Given the description of an element on the screen output the (x, y) to click on. 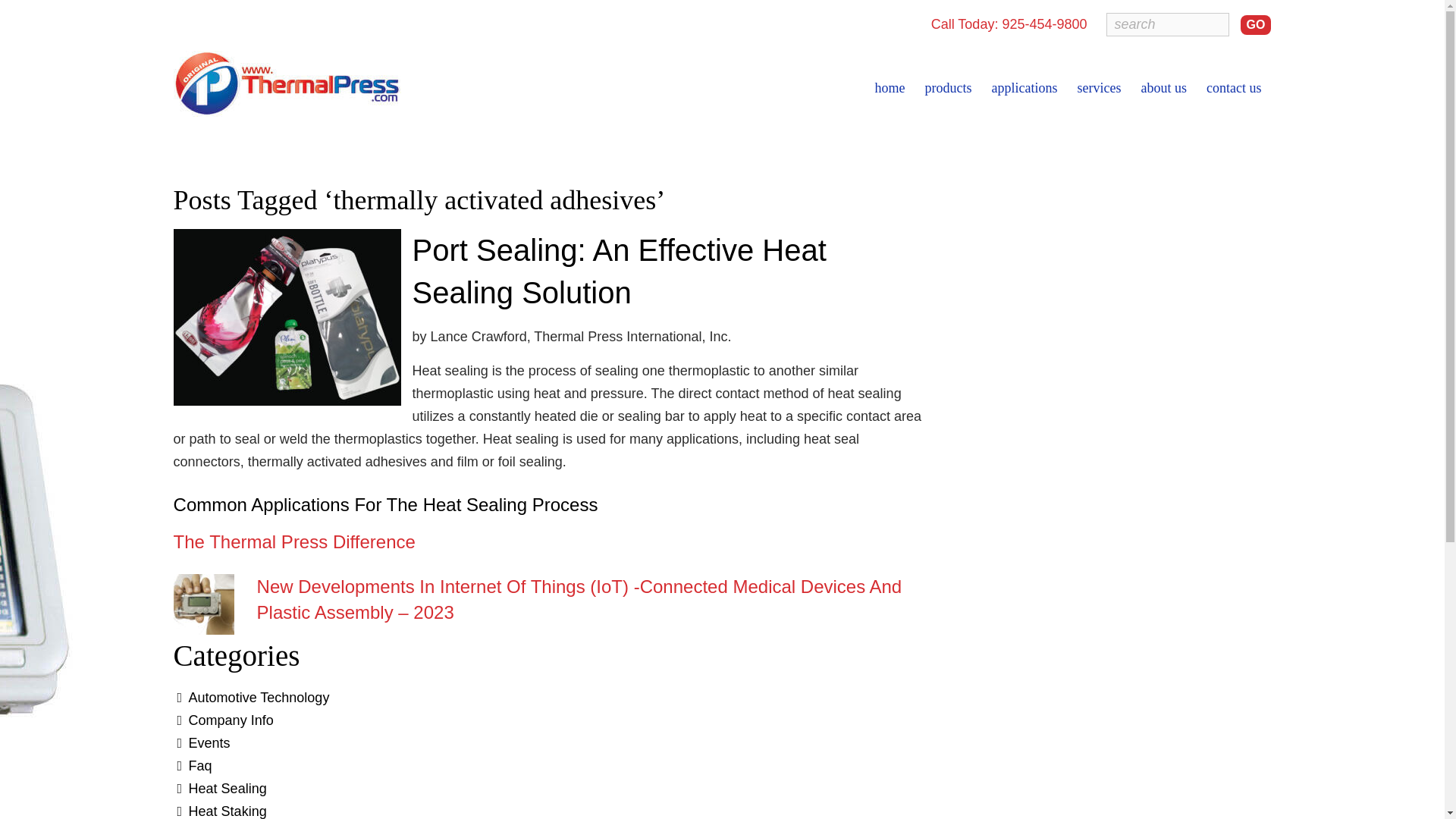
services (1098, 87)
applications (1023, 87)
Call Today: 925-454-9800 (1009, 23)
products (947, 87)
Go (1255, 25)
Port Sealing: An Effective Heat Sealing Solution (619, 271)
Go (1255, 25)
The Thermal Press Difference (293, 541)
home (889, 87)
about us (1163, 87)
